Given the description of an element on the screen output the (x, y) to click on. 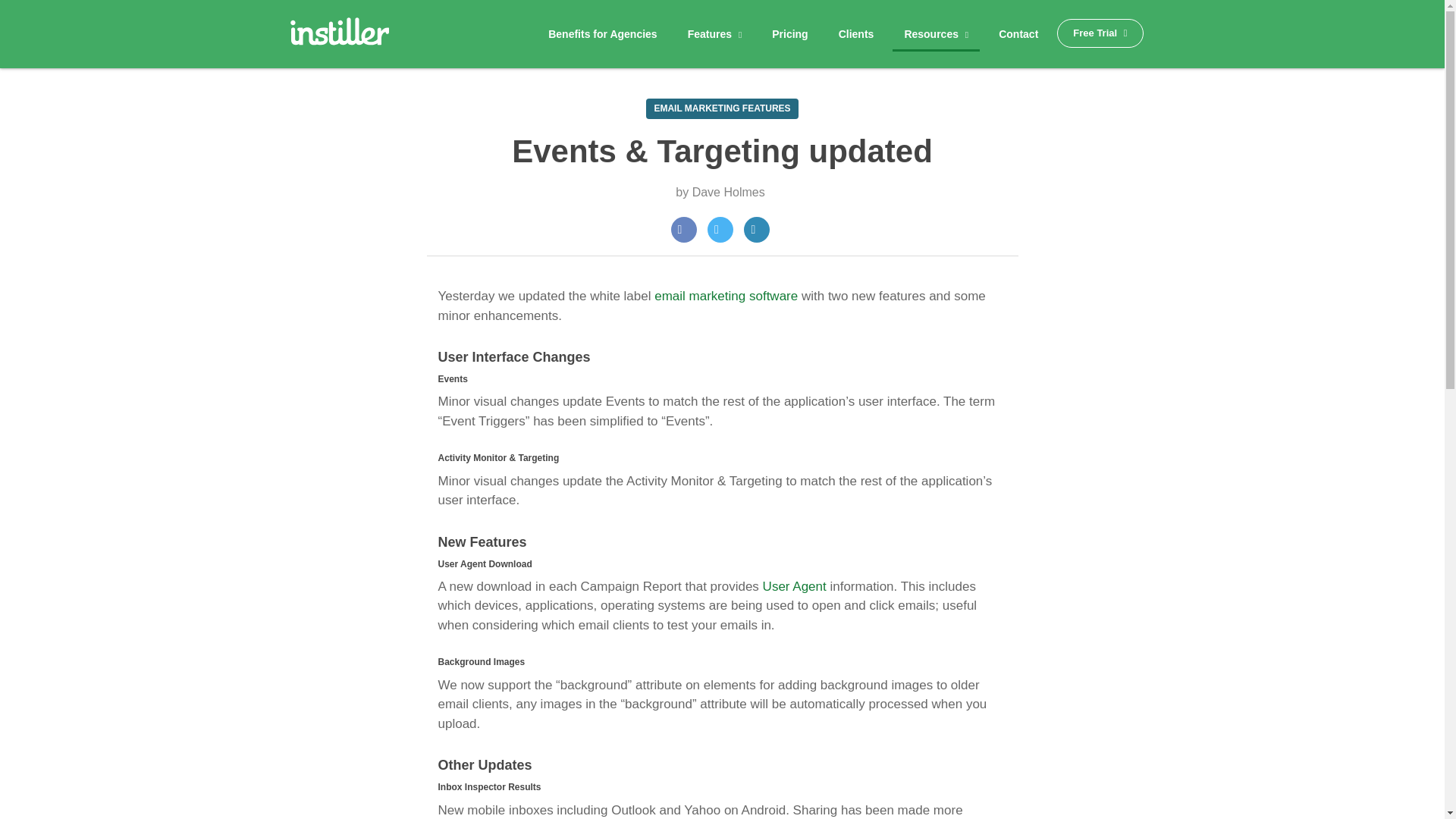
Pricing (789, 34)
User Agent (794, 586)
Free Trial (1099, 32)
Dave Holmes (729, 192)
email marketing software (725, 296)
What's a user agent? (794, 586)
Clients (856, 34)
White label email marketing for agencies (338, 36)
Benefits for Agencies (602, 34)
Contact (1018, 34)
Resources (935, 33)
Features (715, 34)
EMAIL MARKETING FEATURES (721, 108)
